Given the description of an element on the screen output the (x, y) to click on. 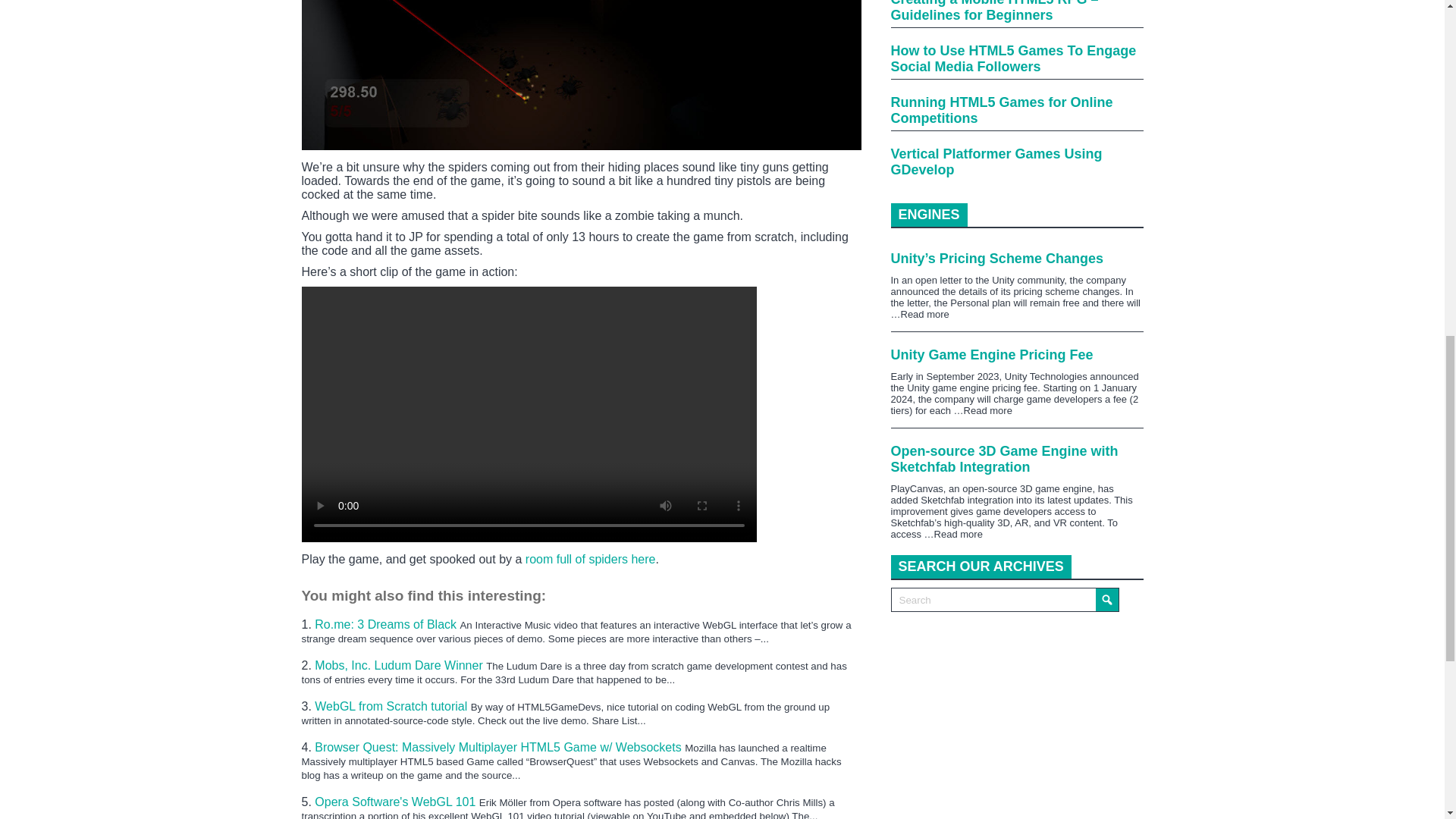
WebGL from Scratch tutorial (392, 706)
WebGL from Scratch tutorial (392, 706)
Ro.me: 3 Dreams of Black (387, 624)
Ro.me: 3 Dreams of Black (387, 624)
Vertical Platformer Games Using GDevelop (1015, 167)
Opera Software's WebGL 101 (396, 801)
Mobs, Inc. Ludum Dare Winner (400, 665)
Running HTML5 Games for Online Competitions (1015, 116)
Opera Software's WebGL 101 (396, 801)
room full of spiders here (590, 558)
